Given the description of an element on the screen output the (x, y) to click on. 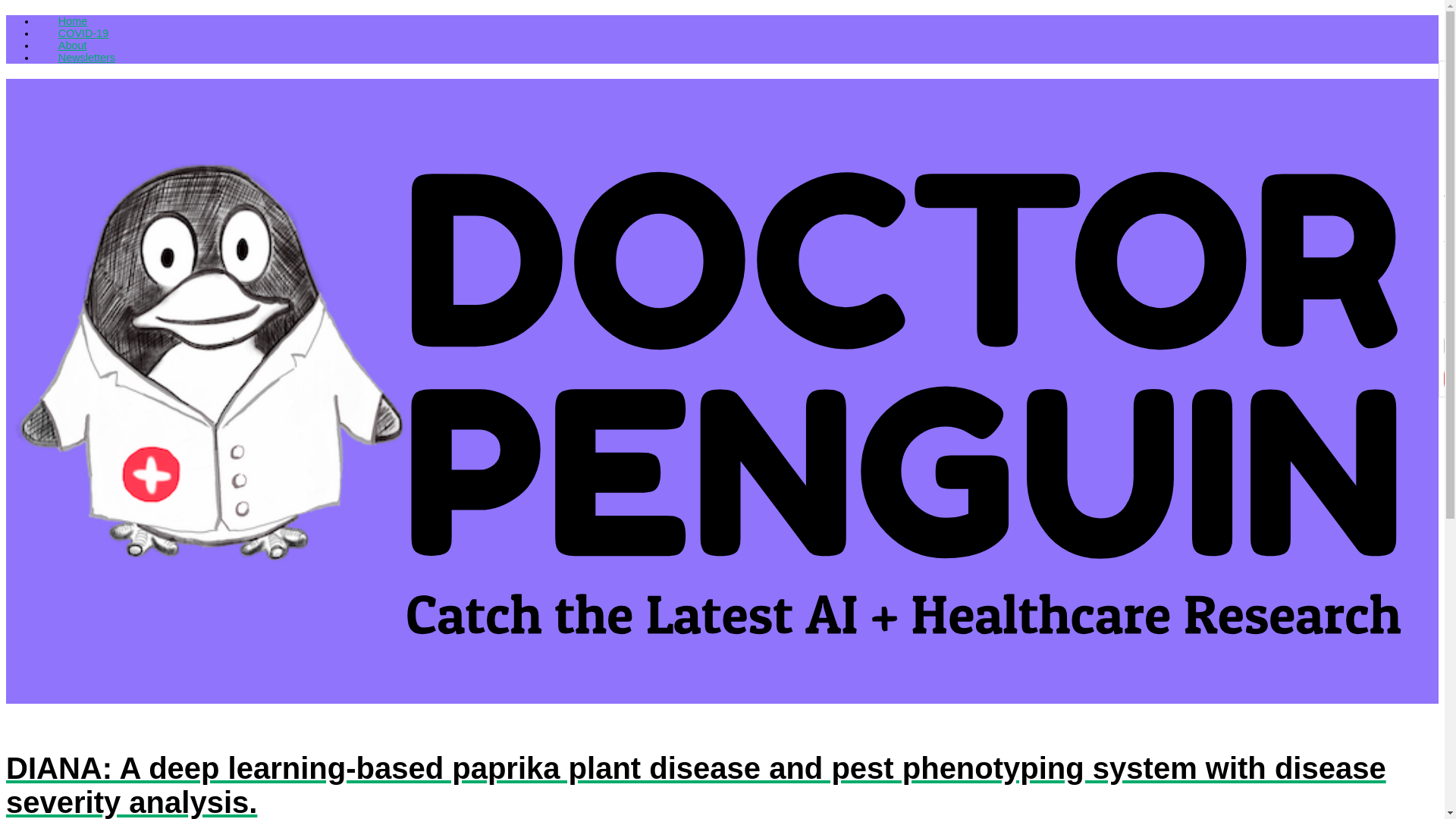
COVID-19 (82, 33)
About (72, 45)
Newsletters (86, 57)
Home (72, 21)
